Given the description of an element on the screen output the (x, y) to click on. 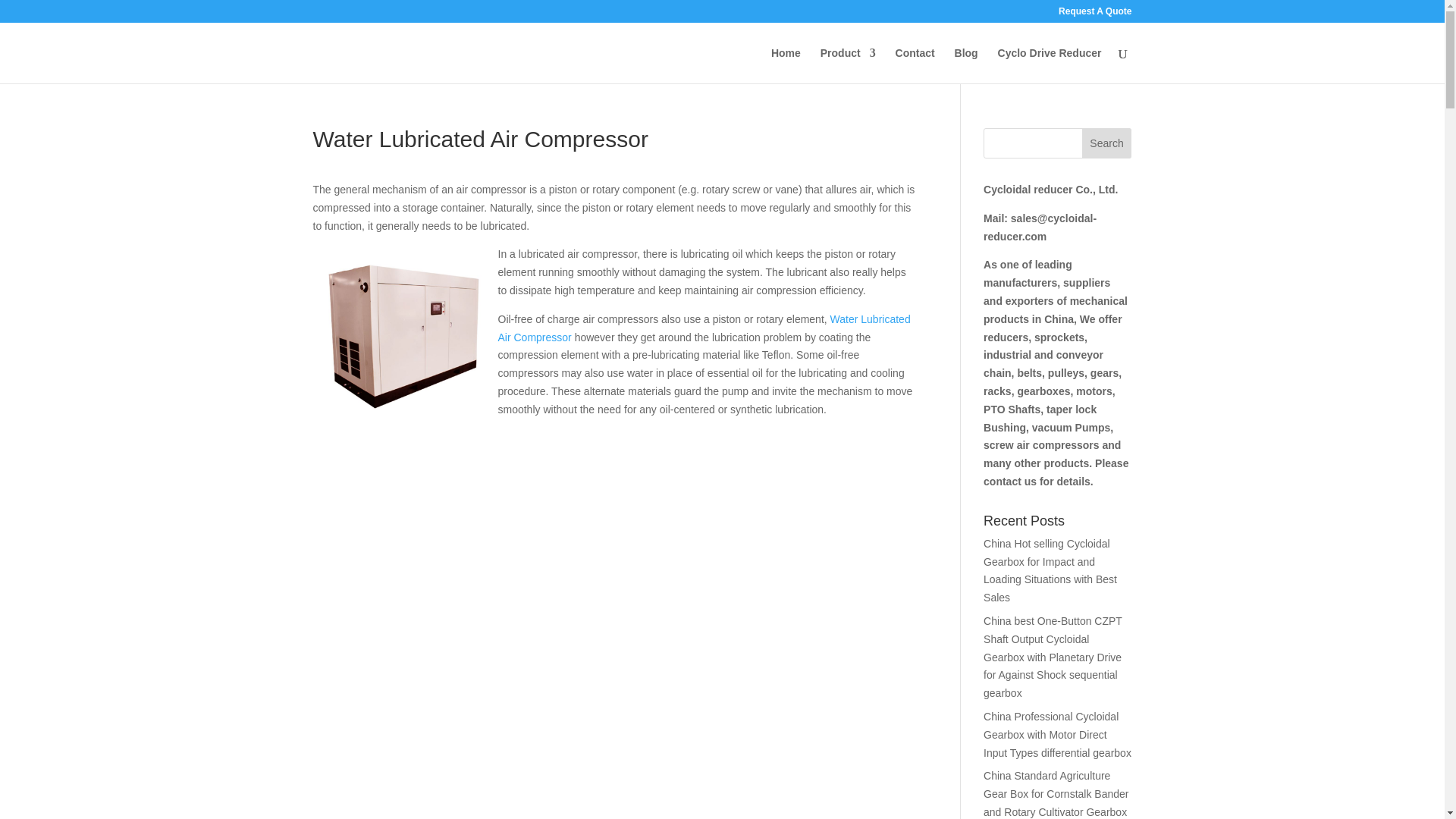
Product (848, 65)
Cyclo Drive Reducer (1049, 65)
Home (785, 65)
Water Lubricated Air Compressor (703, 327)
Contact (914, 65)
Blog (966, 65)
Search (1106, 142)
Request A Quote (1094, 14)
Search (1106, 142)
